Given the description of an element on the screen output the (x, y) to click on. 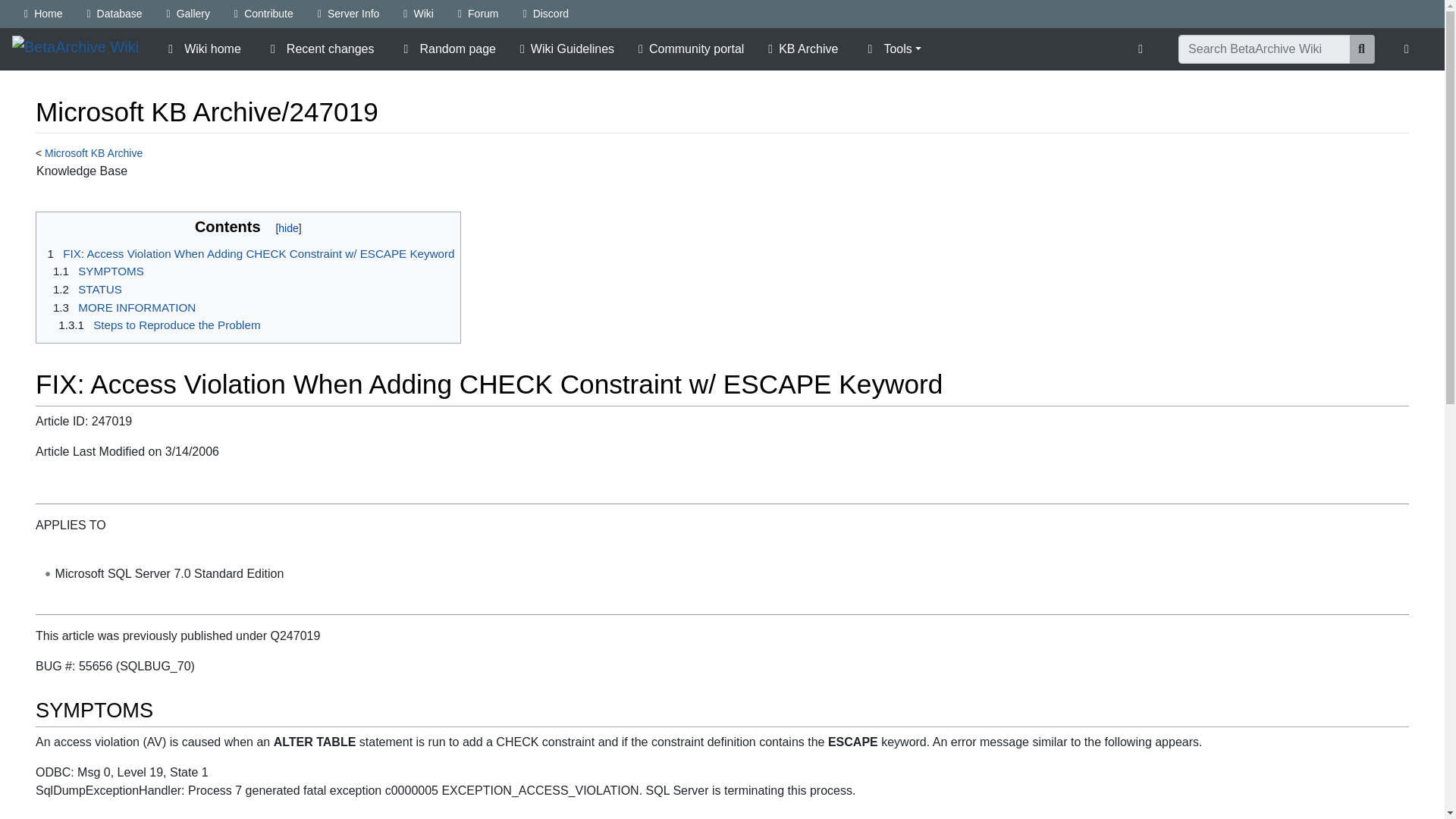
Database (114, 13)
Tools (891, 49)
Visit the main page (74, 48)
Wiki home (202, 49)
Wiki (418, 13)
Page tools (1143, 49)
Go (1361, 49)
Home (42, 13)
Microsoft KB Archive (93, 152)
Server Info (348, 13)
Discord (545, 13)
Contribute (263, 13)
Random page (446, 49)
1.2 STATUS (85, 288)
You are not logged in. (1410, 49)
